Given the description of an element on the screen output the (x, y) to click on. 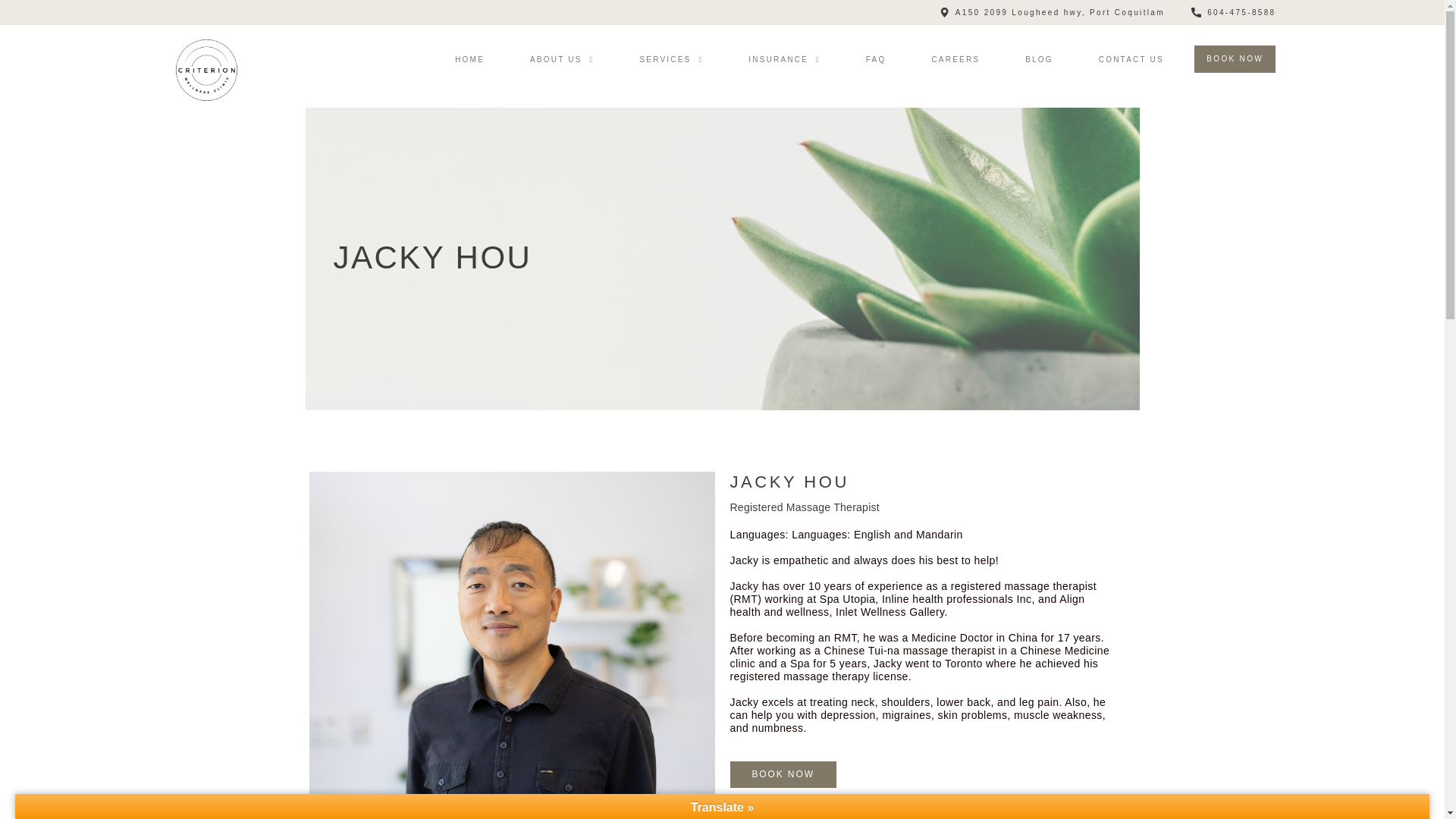
CONTACT US (1131, 59)
CAREERS (954, 59)
604-475-8588 (1233, 12)
INSURANCE (784, 59)
BLOG (1039, 59)
SERVICES (670, 59)
A150 2099 Lougheed hwy, Port Coquitlam (1051, 12)
HOME (469, 59)
ABOUT US (561, 59)
FAQ (875, 59)
